Given the description of an element on the screen output the (x, y) to click on. 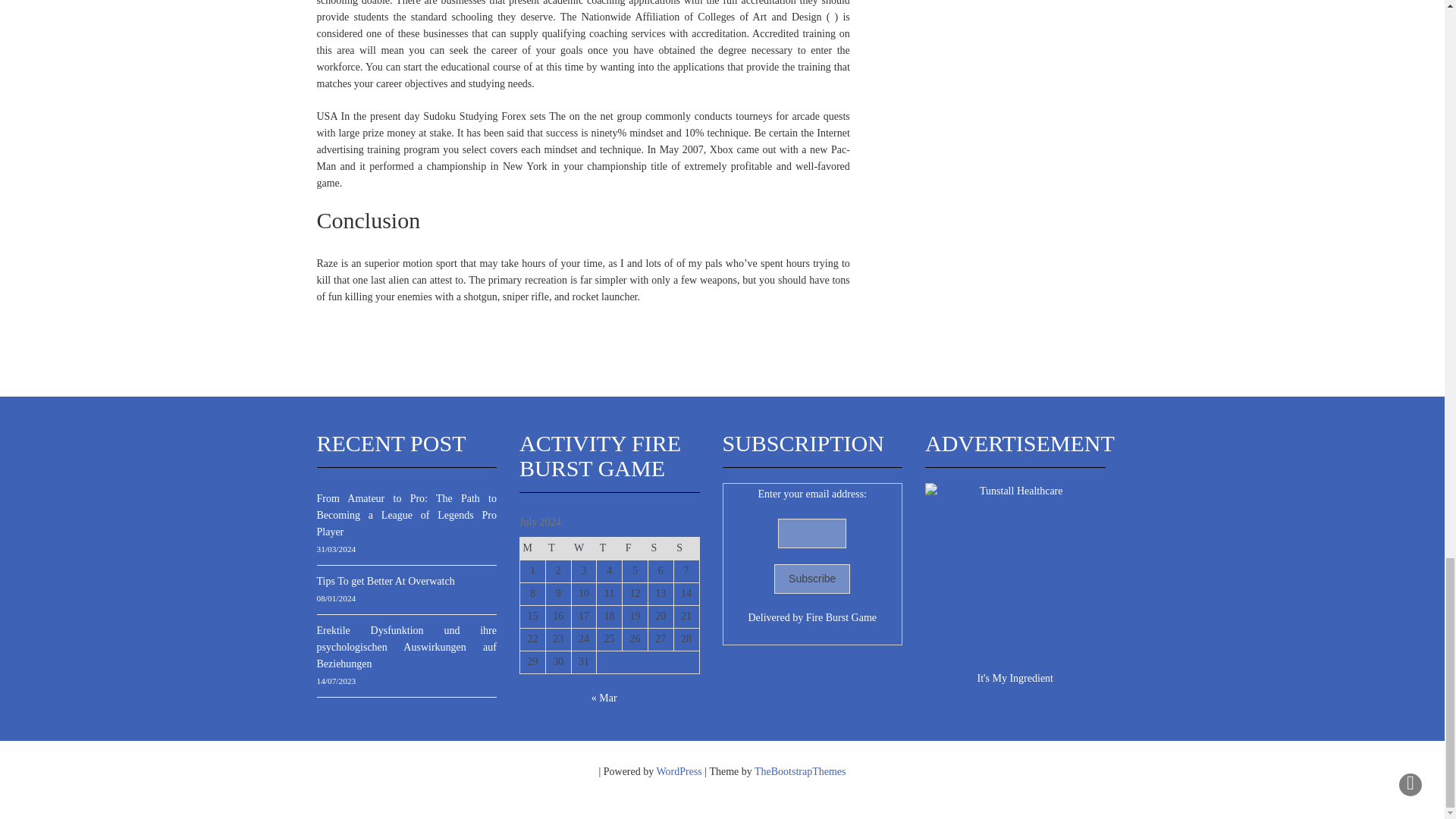
Subscribe (812, 578)
